Given the description of an element on the screen output the (x, y) to click on. 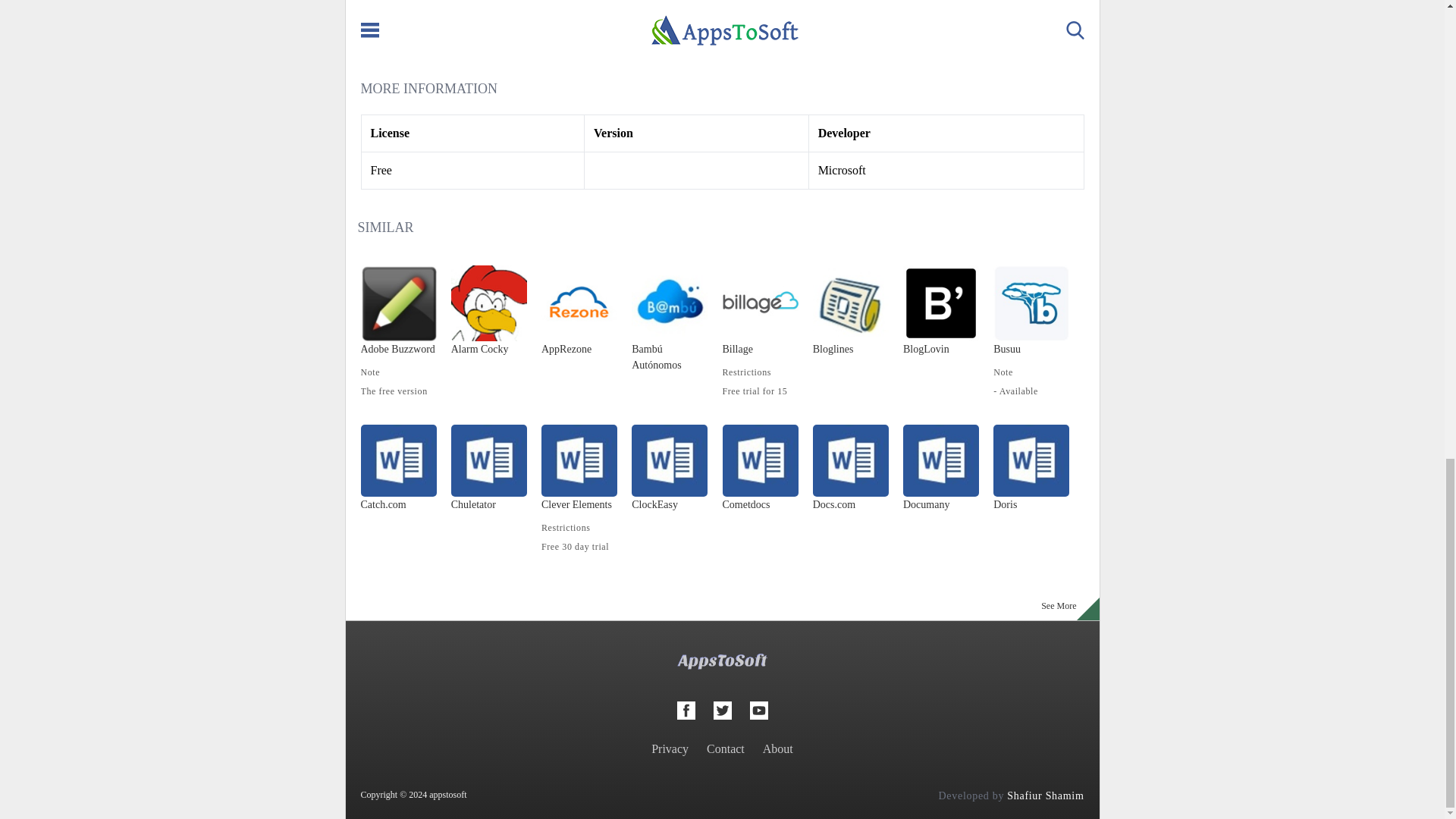
About (777, 748)
See More (1058, 608)
About (777, 748)
SIMILAR (385, 227)
Privacy (669, 748)
Contact (725, 748)
Contact (725, 748)
Privacy (669, 748)
